Given the description of an element on the screen output the (x, y) to click on. 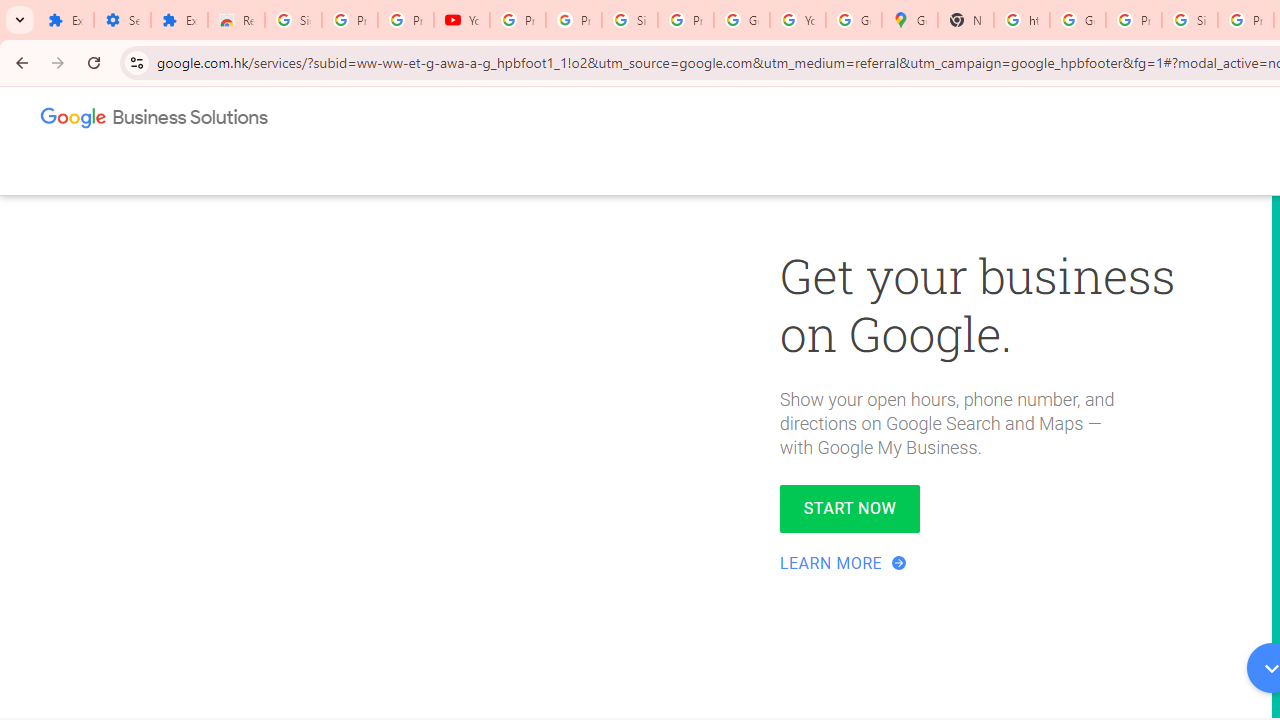
Sign in - Google Accounts (293, 20)
START NOW (850, 508)
